Given the description of an element on the screen output the (x, y) to click on. 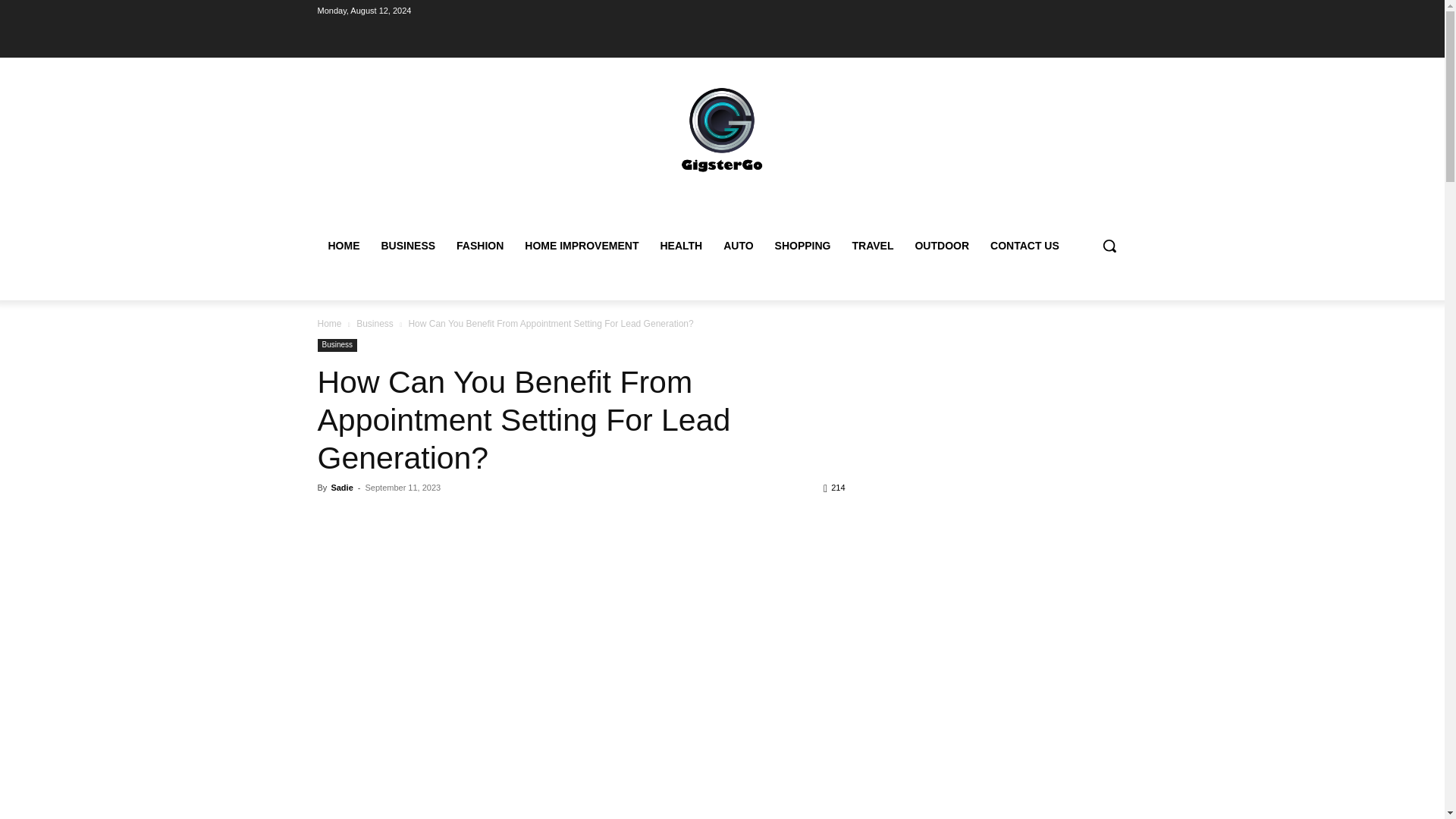
HOME (343, 245)
HEALTH (681, 245)
BUSINESS (407, 245)
CONTACT US (1024, 245)
Business (336, 345)
Business (374, 323)
View all posts in Business (374, 323)
Sadie (341, 487)
FASHION (479, 245)
SHOPPING (802, 245)
